Given the description of an element on the screen output the (x, y) to click on. 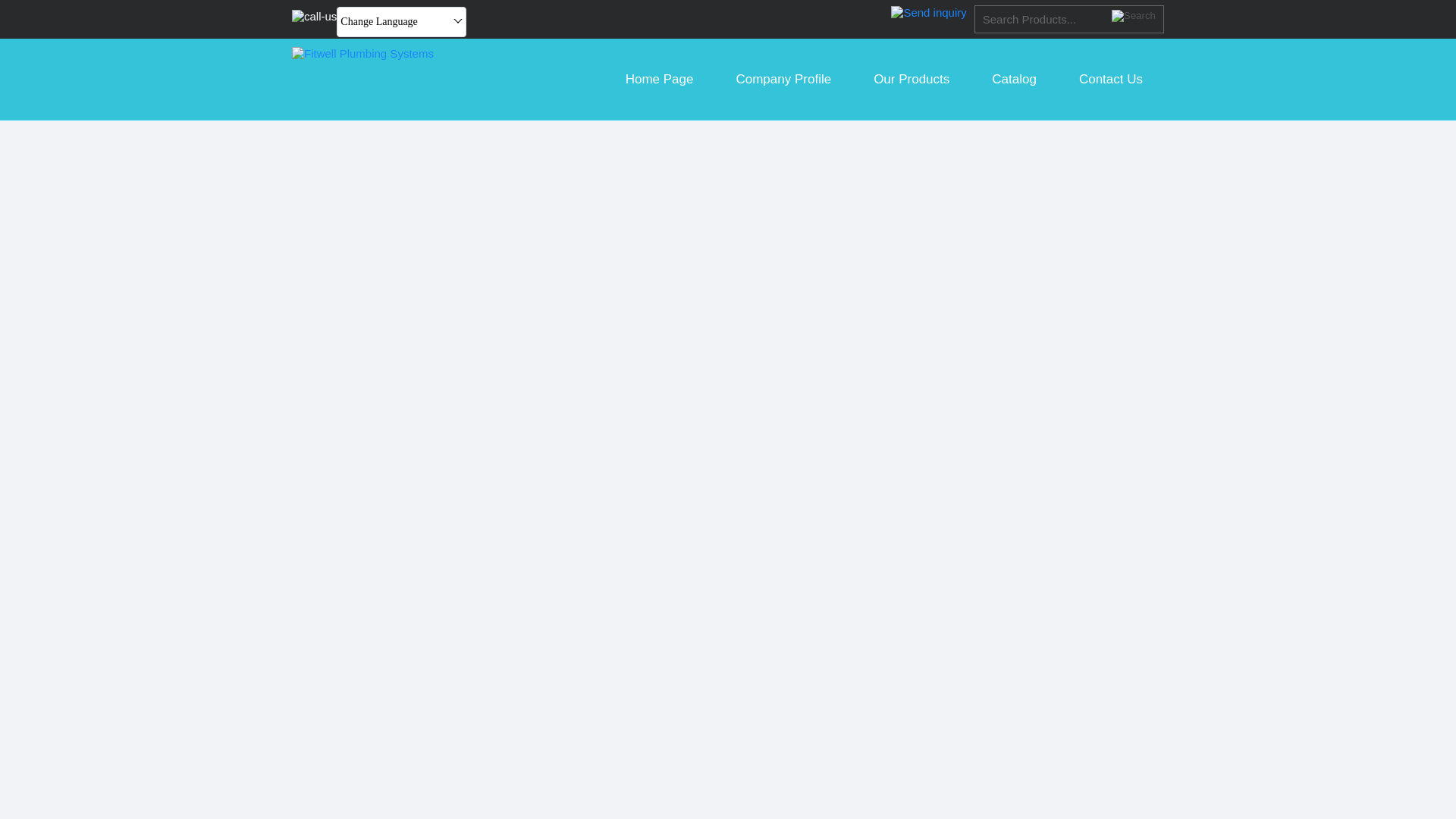
Search Products... (1043, 18)
Home Page (659, 78)
Company Profile (782, 78)
Our Products (911, 78)
submit (1134, 15)
Fitwell Plumbing Systems (362, 52)
Search (1134, 15)
Send inquiry (928, 11)
